Given the description of an element on the screen output the (x, y) to click on. 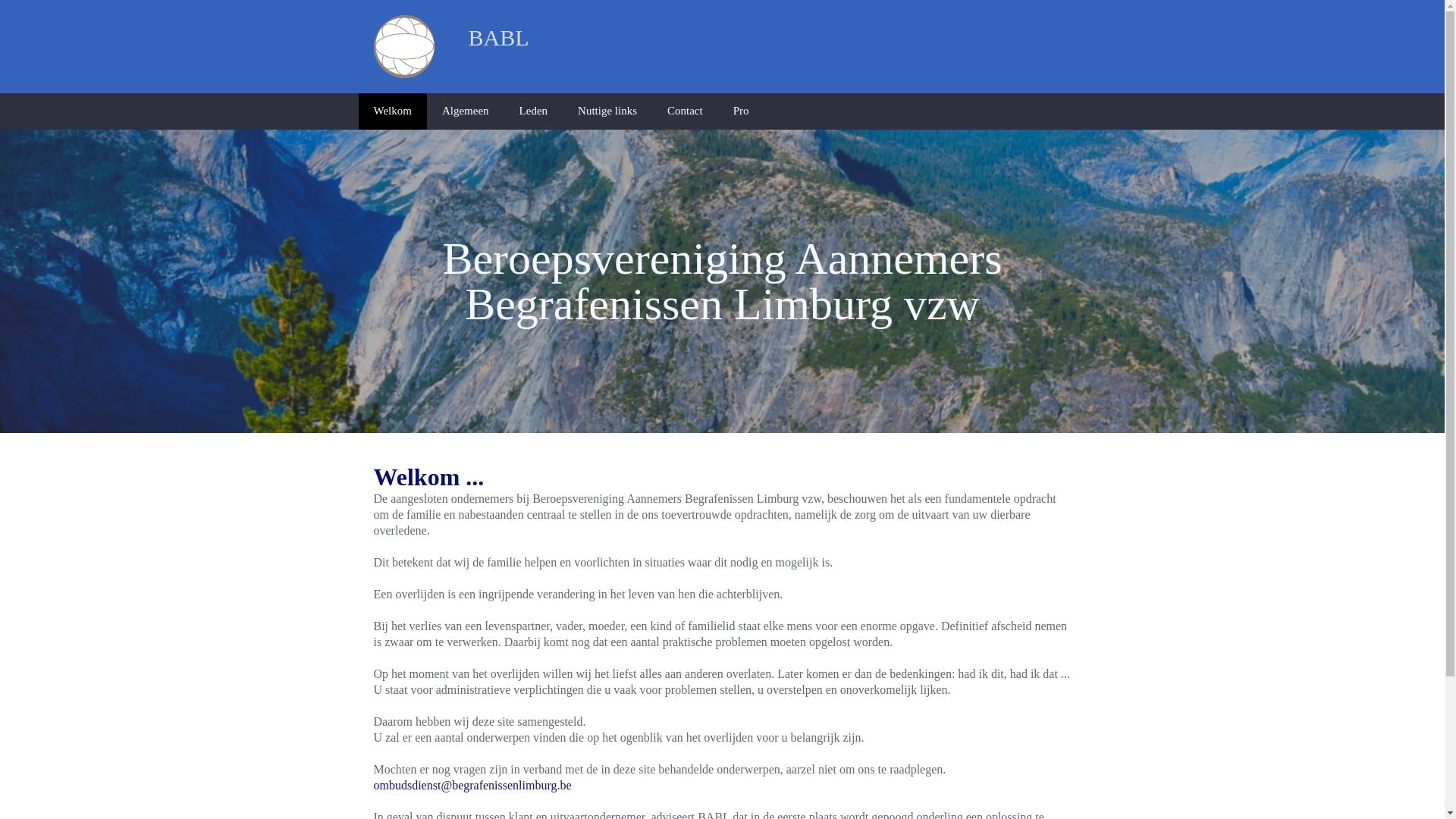
Algemeen Element type: text (465, 111)
Leden Element type: text (533, 111)
Nuttige links Element type: text (607, 111)
Contact Element type: text (685, 111)
Pro Element type: text (741, 111)
Welkom Element type: text (391, 111)
BABL Element type: text (480, 37)
ombudsdienst@begrafenissenlimburg.be Element type: text (472, 784)
